Given the description of an element on the screen output the (x, y) to click on. 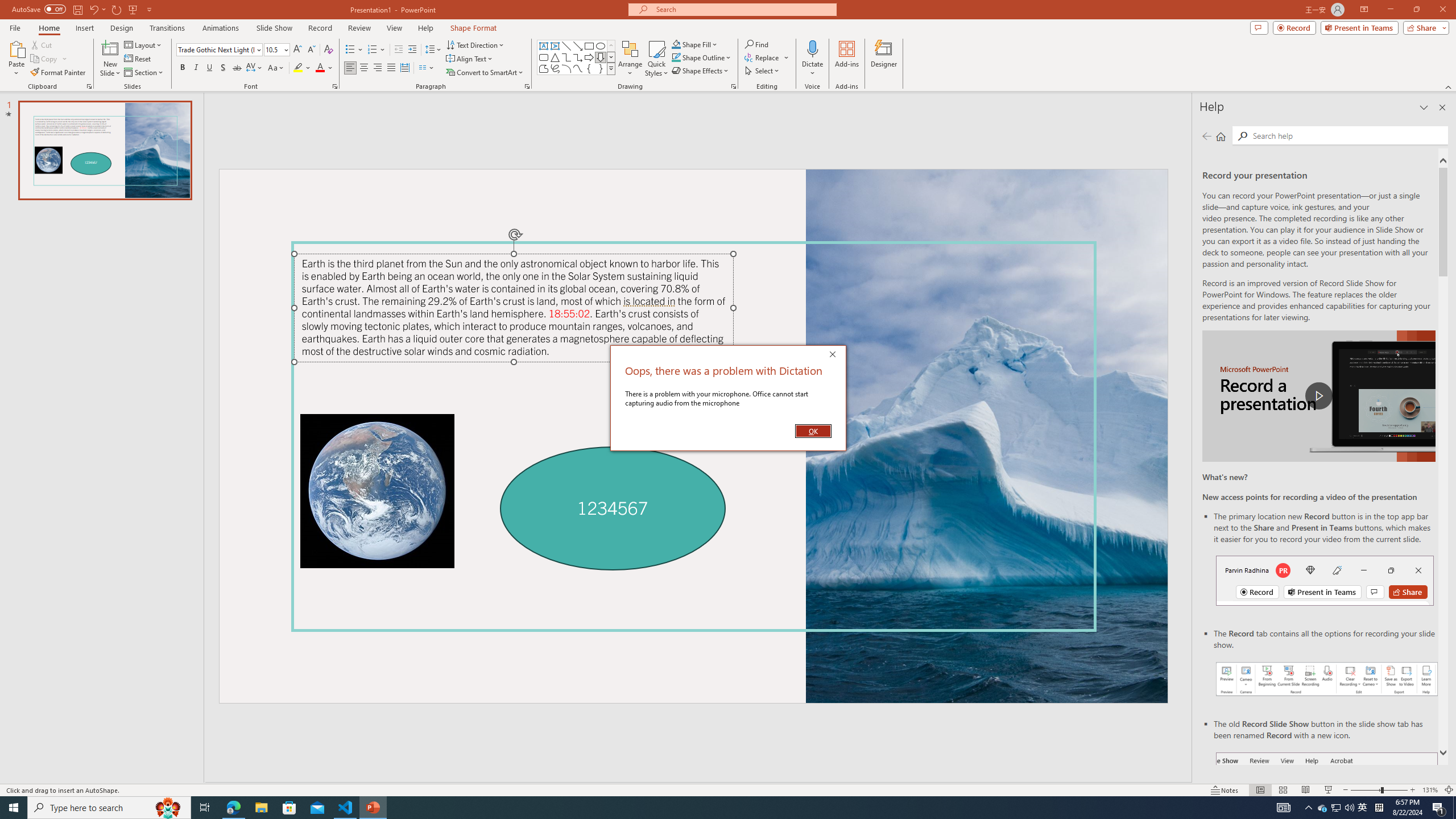
Action Center, 1 new notification (1439, 807)
